Given the description of an element on the screen output the (x, y) to click on. 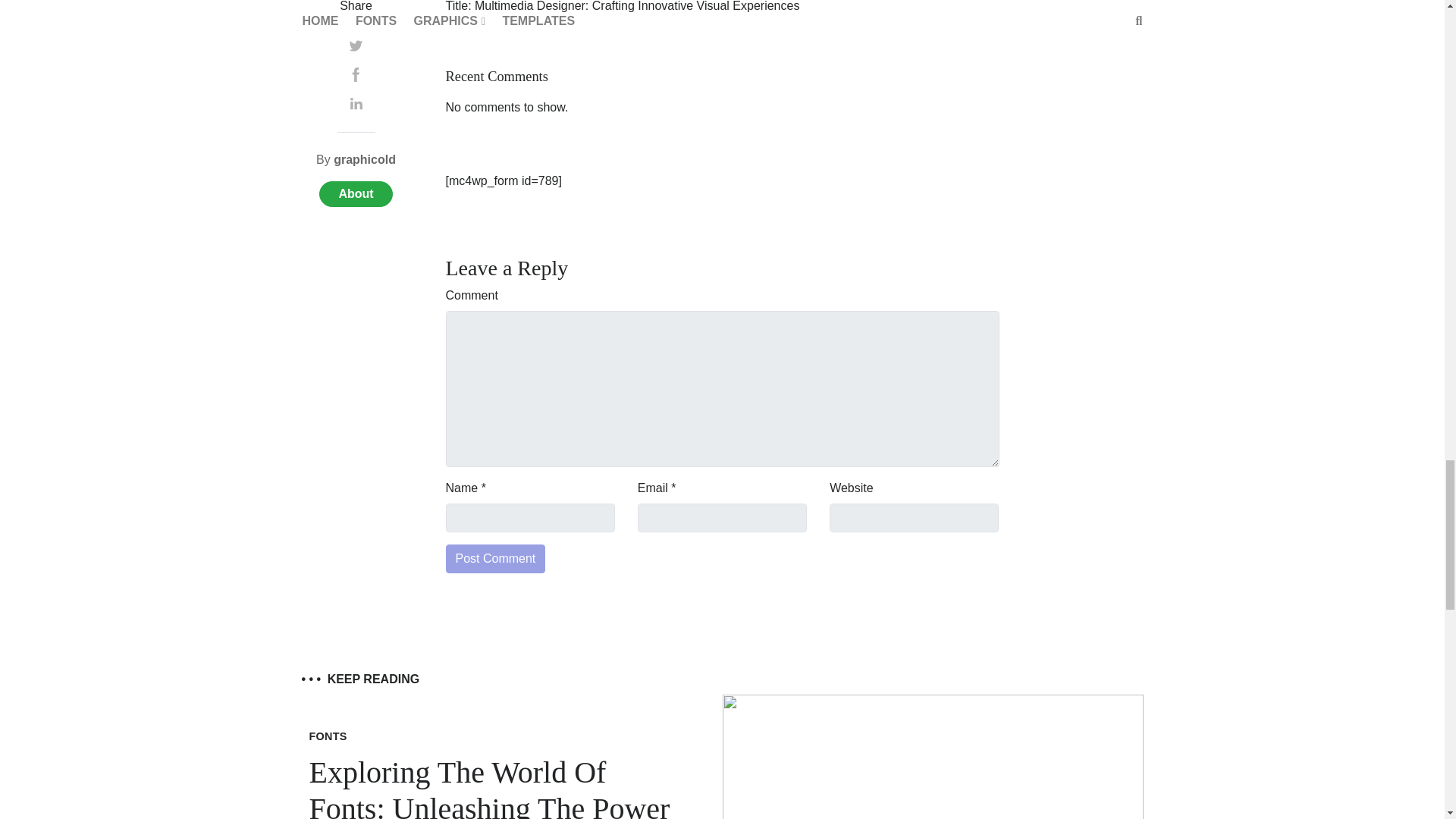
Post Comment (495, 558)
Post Comment (495, 558)
FONTS (327, 735)
